Given the description of an element on the screen output the (x, y) to click on. 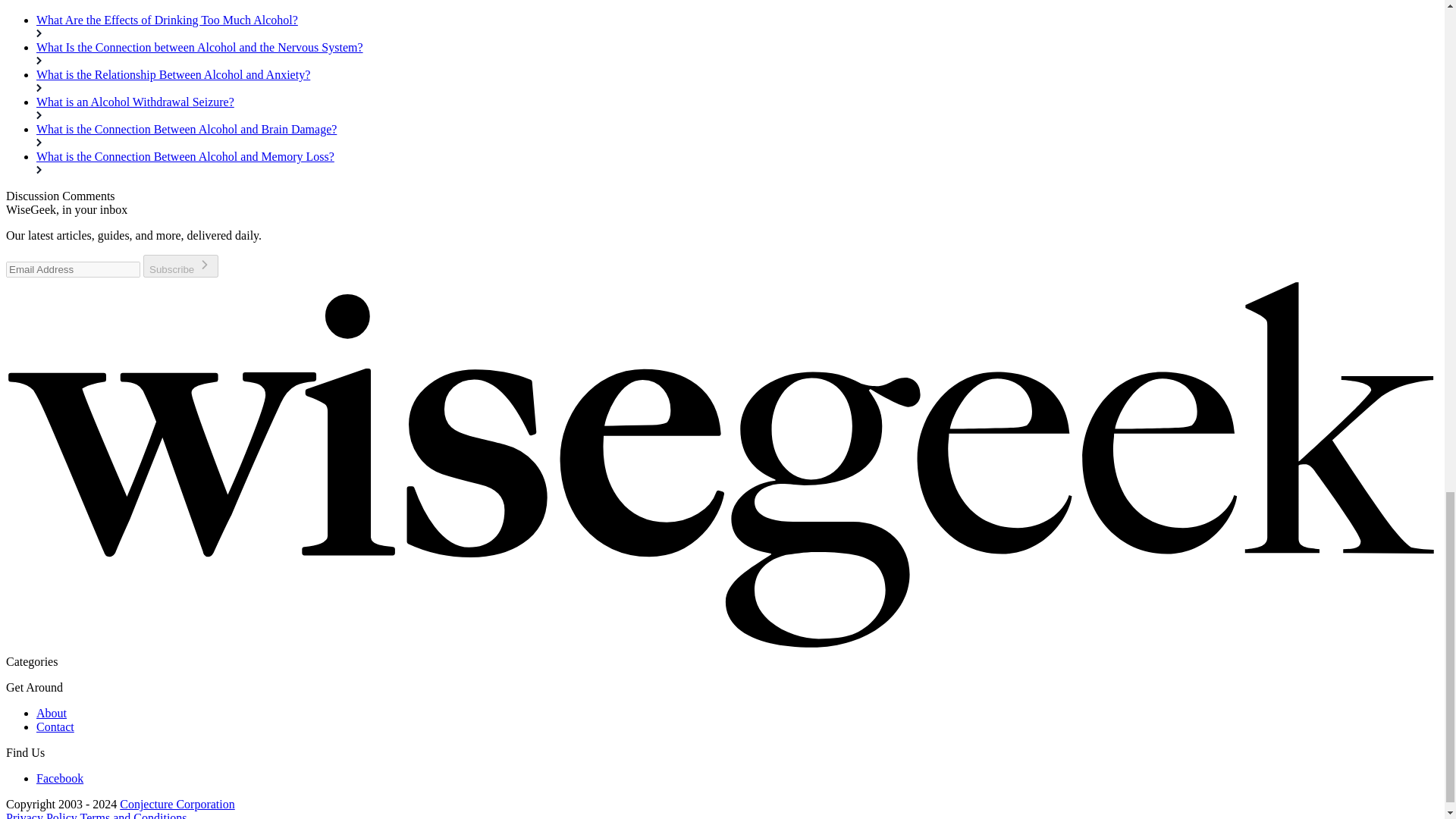
Subscribe (180, 265)
Facebook (59, 778)
About (51, 712)
Contact (55, 726)
Conjecture Corporation (176, 803)
